Given the description of an element on the screen output the (x, y) to click on. 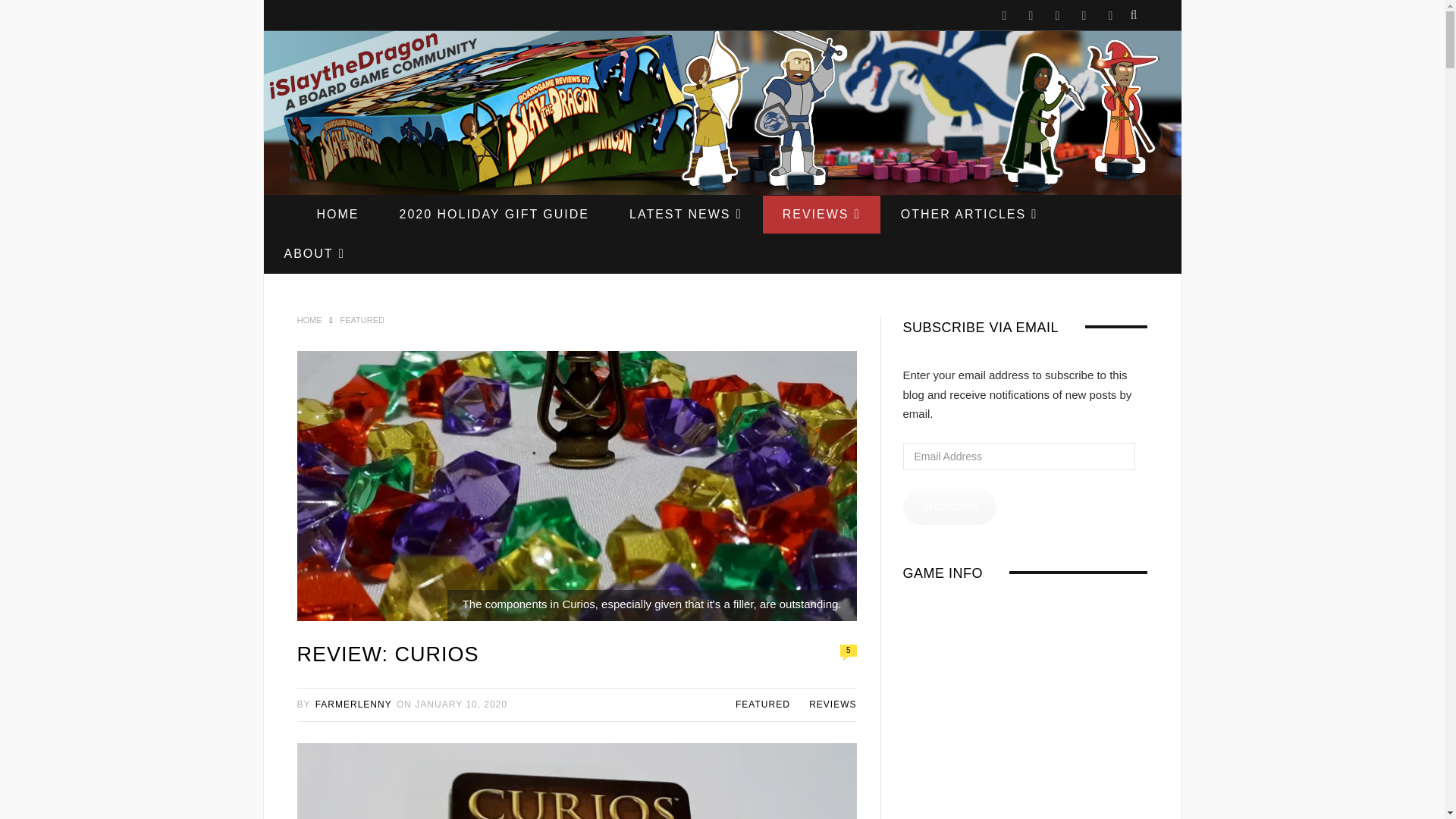
Posts by FarmerLenny (353, 704)
2020 HOLIDAY GIFT GUIDE (493, 214)
LATEST NEWS (685, 214)
REVIEWS (821, 214)
HOME (337, 214)
